Given the description of an element on the screen output the (x, y) to click on. 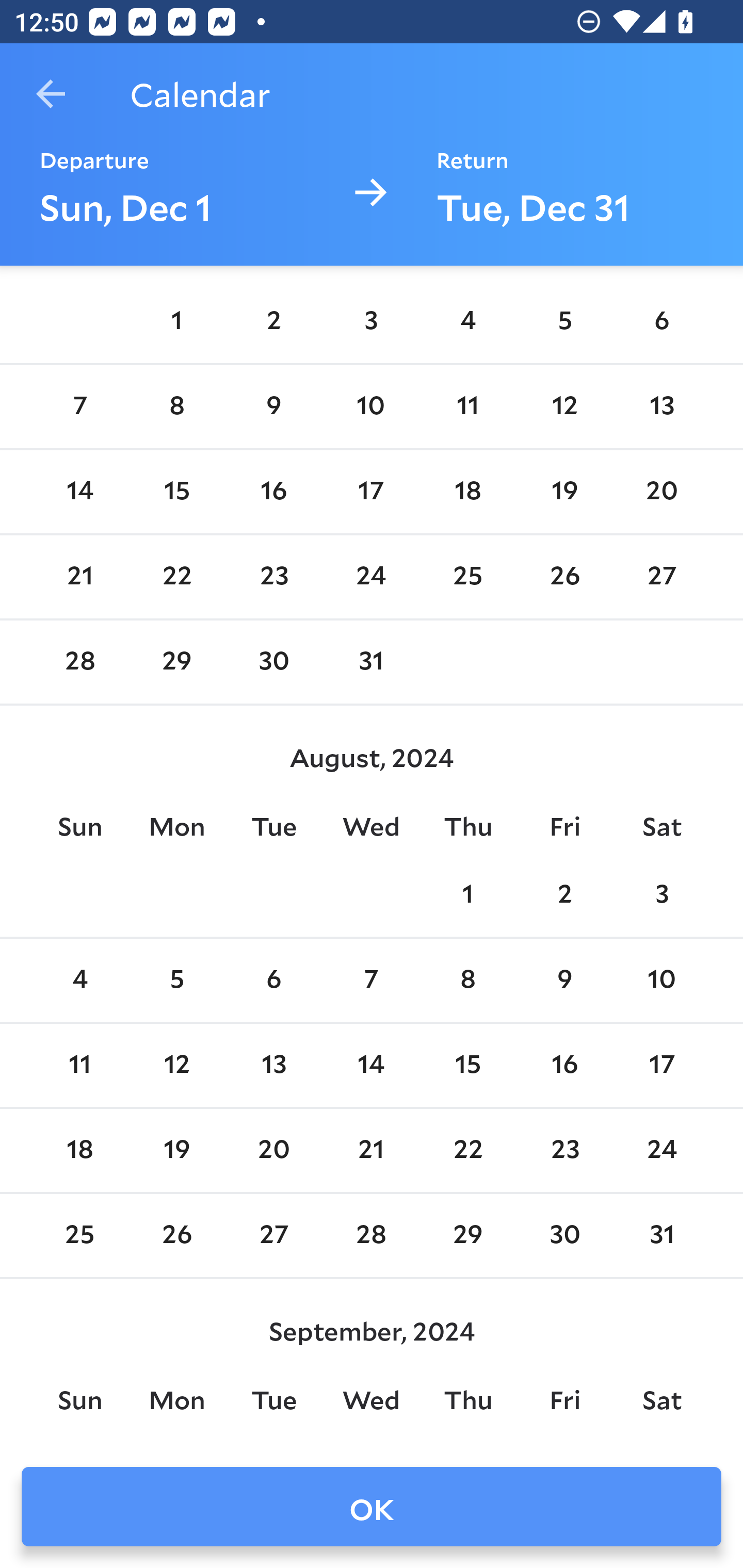
Navigate up (50, 93)
1 (177, 321)
2 (273, 321)
3 (371, 321)
4 (467, 321)
5 (565, 321)
6 (661, 321)
7 (79, 407)
8 (177, 407)
9 (273, 407)
10 (371, 407)
11 (467, 407)
12 (565, 407)
13 (661, 407)
14 (79, 492)
15 (177, 492)
16 (273, 492)
17 (371, 492)
18 (467, 492)
19 (565, 492)
20 (661, 492)
21 (79, 576)
22 (177, 576)
23 (273, 576)
24 (371, 576)
25 (467, 576)
26 (565, 576)
27 (661, 576)
28 (79, 661)
29 (177, 661)
30 (273, 661)
31 (371, 661)
1 (467, 895)
2 (565, 895)
3 (661, 895)
4 (79, 979)
5 (177, 979)
6 (273, 979)
7 (371, 979)
8 (467, 979)
9 (565, 979)
10 (661, 979)
11 (79, 1066)
12 (177, 1066)
13 (273, 1066)
14 (371, 1066)
15 (467, 1066)
16 (565, 1066)
17 (661, 1066)
18 (79, 1150)
19 (177, 1150)
20 (273, 1150)
21 (371, 1150)
22 (467, 1150)
23 (565, 1150)
24 (661, 1150)
25 (79, 1235)
26 (177, 1235)
27 (273, 1235)
28 (371, 1235)
29 (467, 1235)
30 (565, 1235)
31 (661, 1235)
OK (371, 1506)
